Given the description of an element on the screen output the (x, y) to click on. 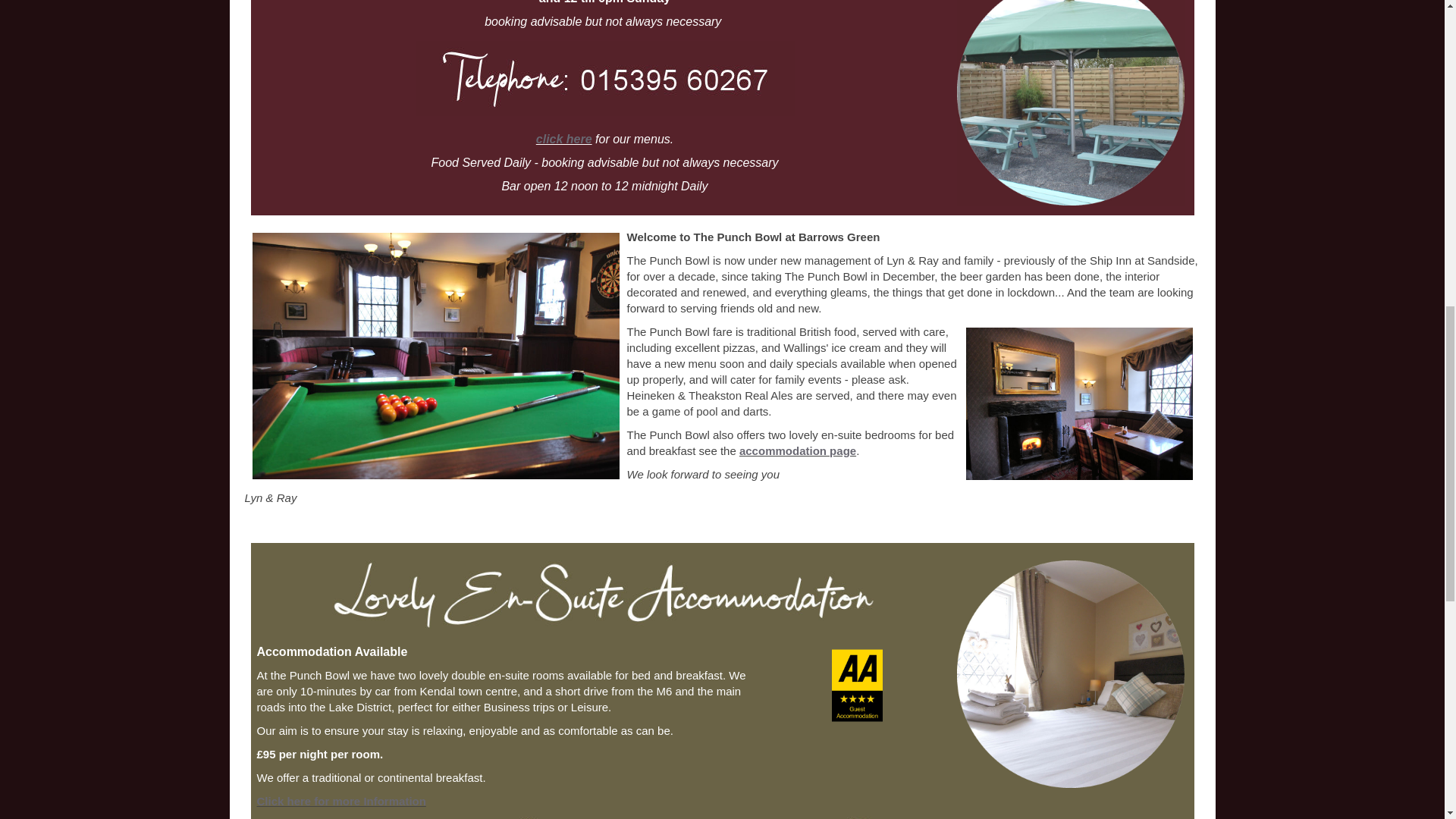
Click here for more Information (340, 800)
click here (563, 138)
accommodation page (797, 450)
